Given the description of an element on the screen output the (x, y) to click on. 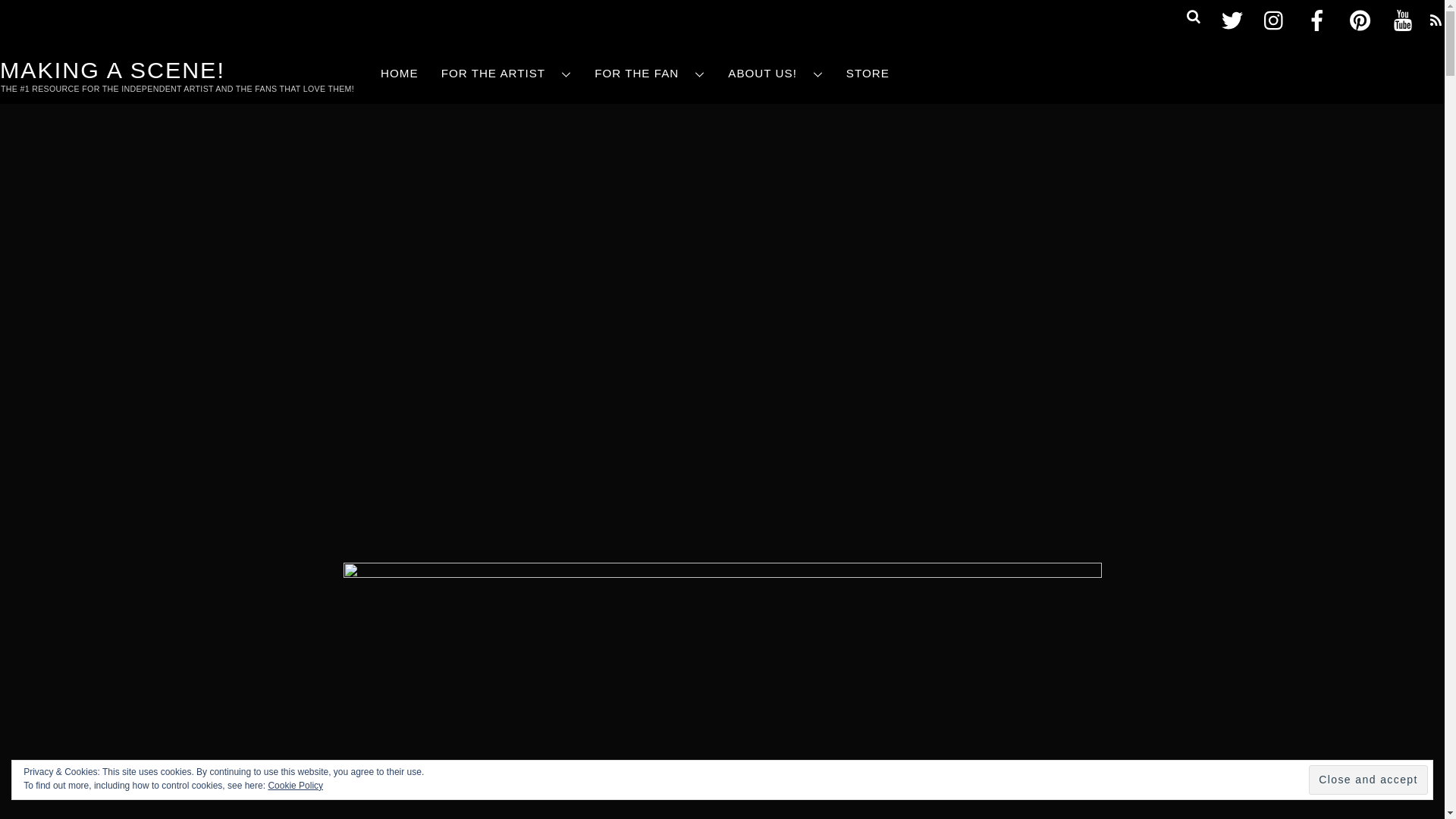
FOR THE ARTIST (506, 74)
ABOUT US! (775, 74)
Making A Scene! (112, 69)
MAKING A SCENE! (112, 69)
FOR THE FAN (649, 74)
STORE (867, 74)
HOME (399, 74)
Close and accept (1368, 779)
